Given the description of an element on the screen output the (x, y) to click on. 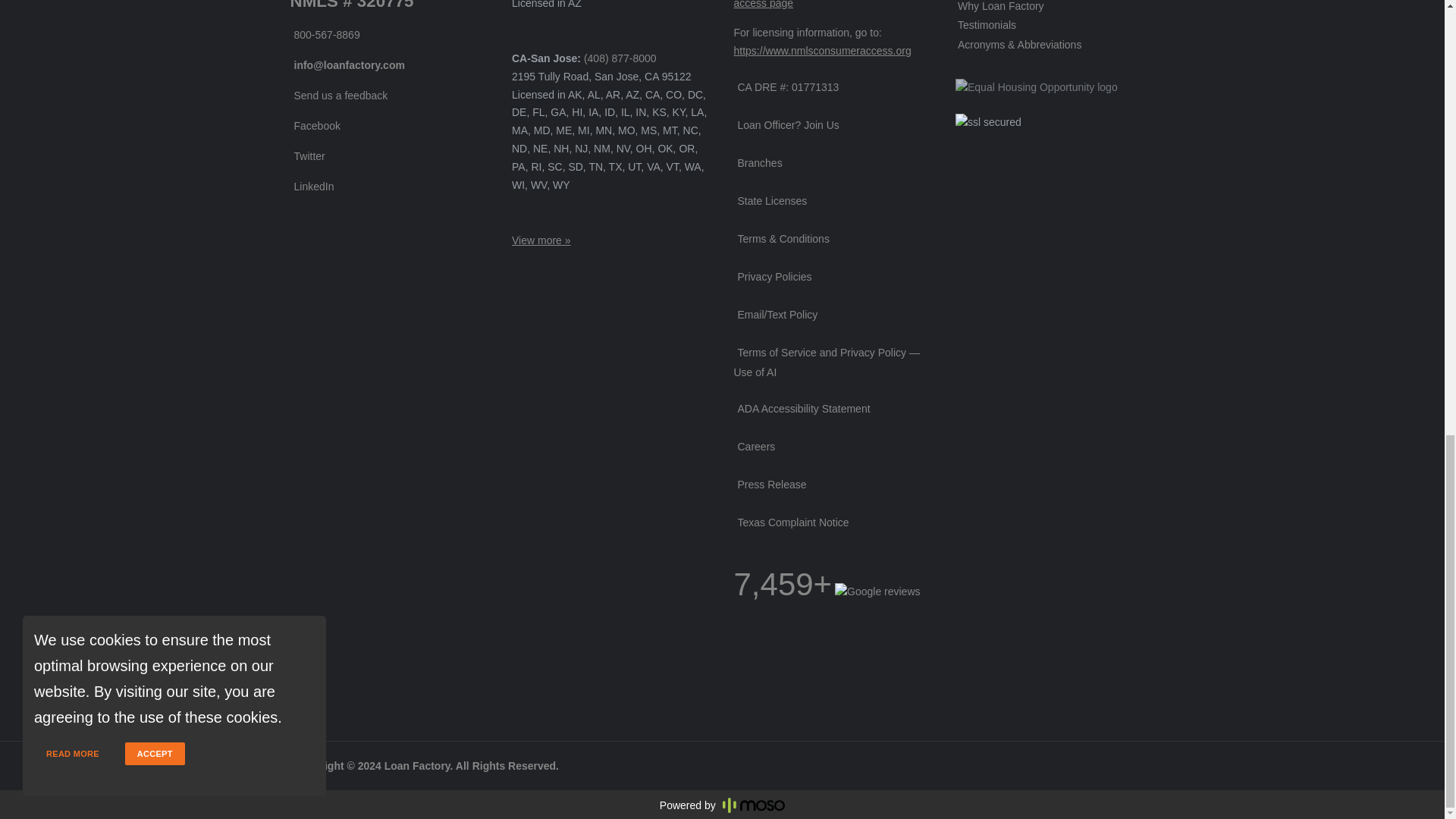
800-567-8869 (324, 34)
